Given the description of an element on the screen output the (x, y) to click on. 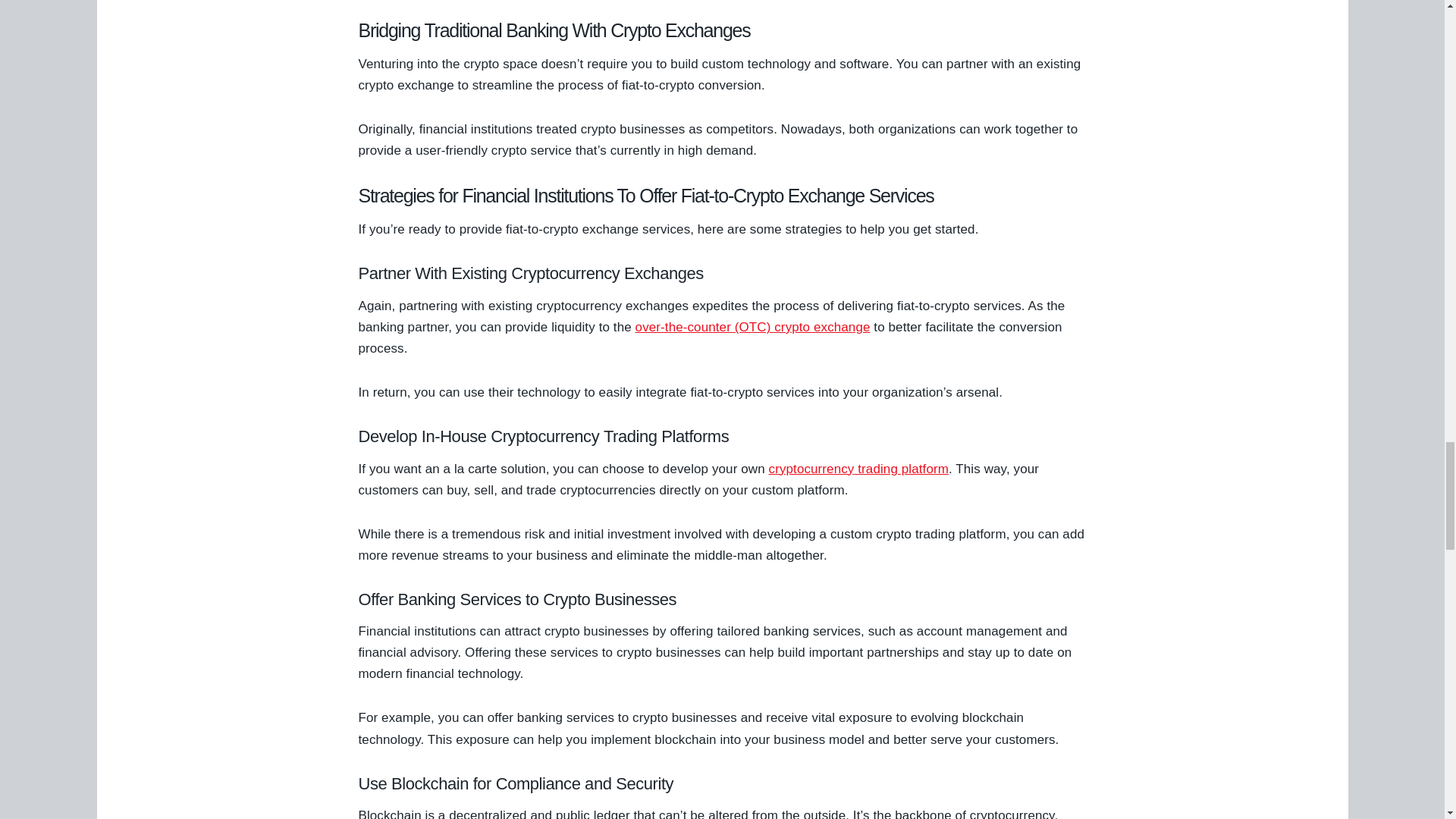
cryptocurrency trading platform (858, 468)
